Given the description of an element on the screen output the (x, y) to click on. 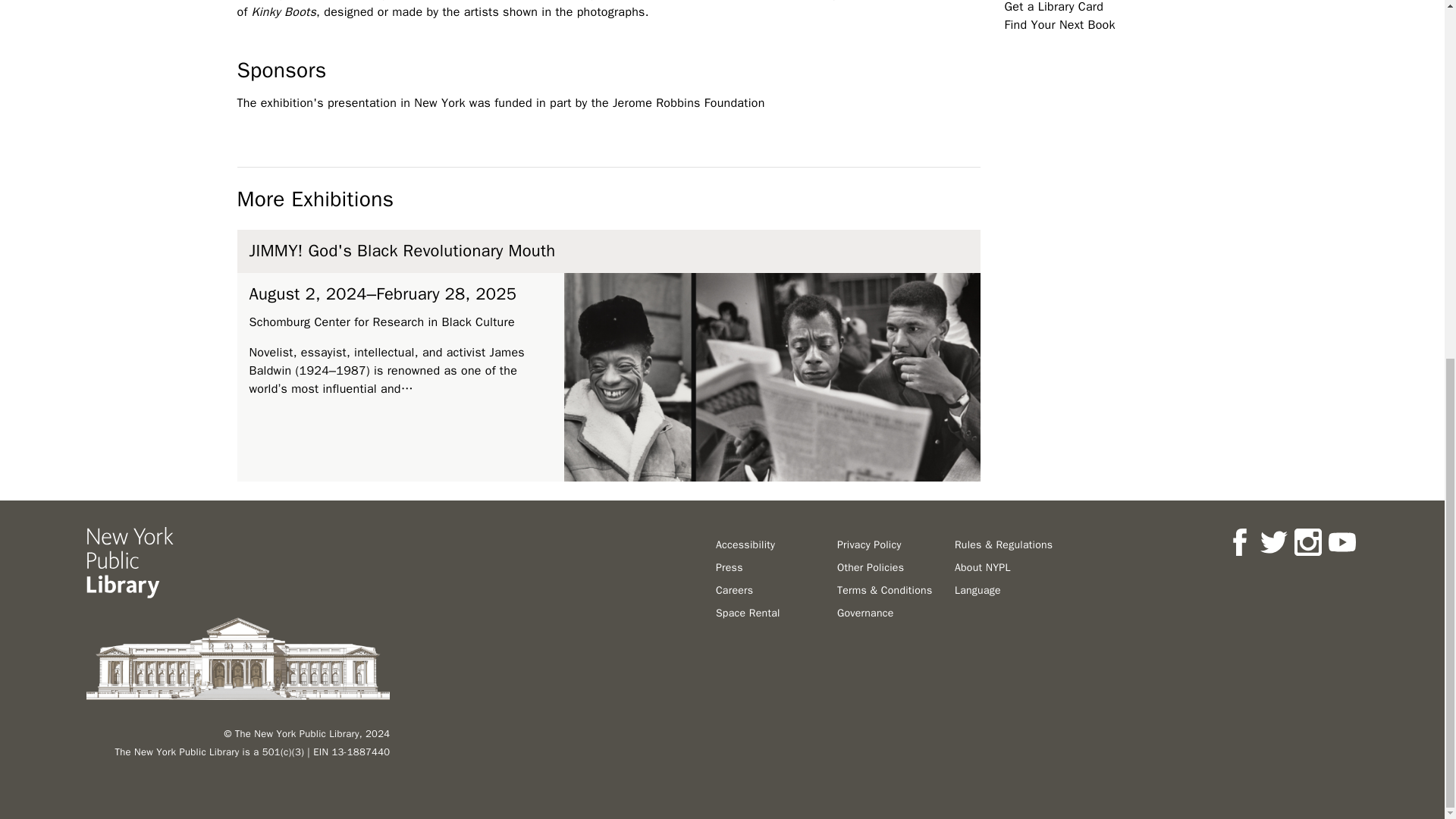
Privacy Policy (869, 544)
NYPL on Youtube (1341, 542)
Get a Library Card (1053, 7)
Space Rental (748, 612)
Find Your Next Book (1059, 24)
Careers (734, 590)
Accessibility (745, 544)
The New York Public Library (129, 562)
Other Policies (870, 567)
NYPL on Instagram (1308, 542)
NYPL on Twitter (1273, 542)
JIMMY! God's Black Revolutionary Mouth (401, 250)
NYPL on Facebook (1239, 542)
Press (729, 567)
